Given the description of an element on the screen output the (x, y) to click on. 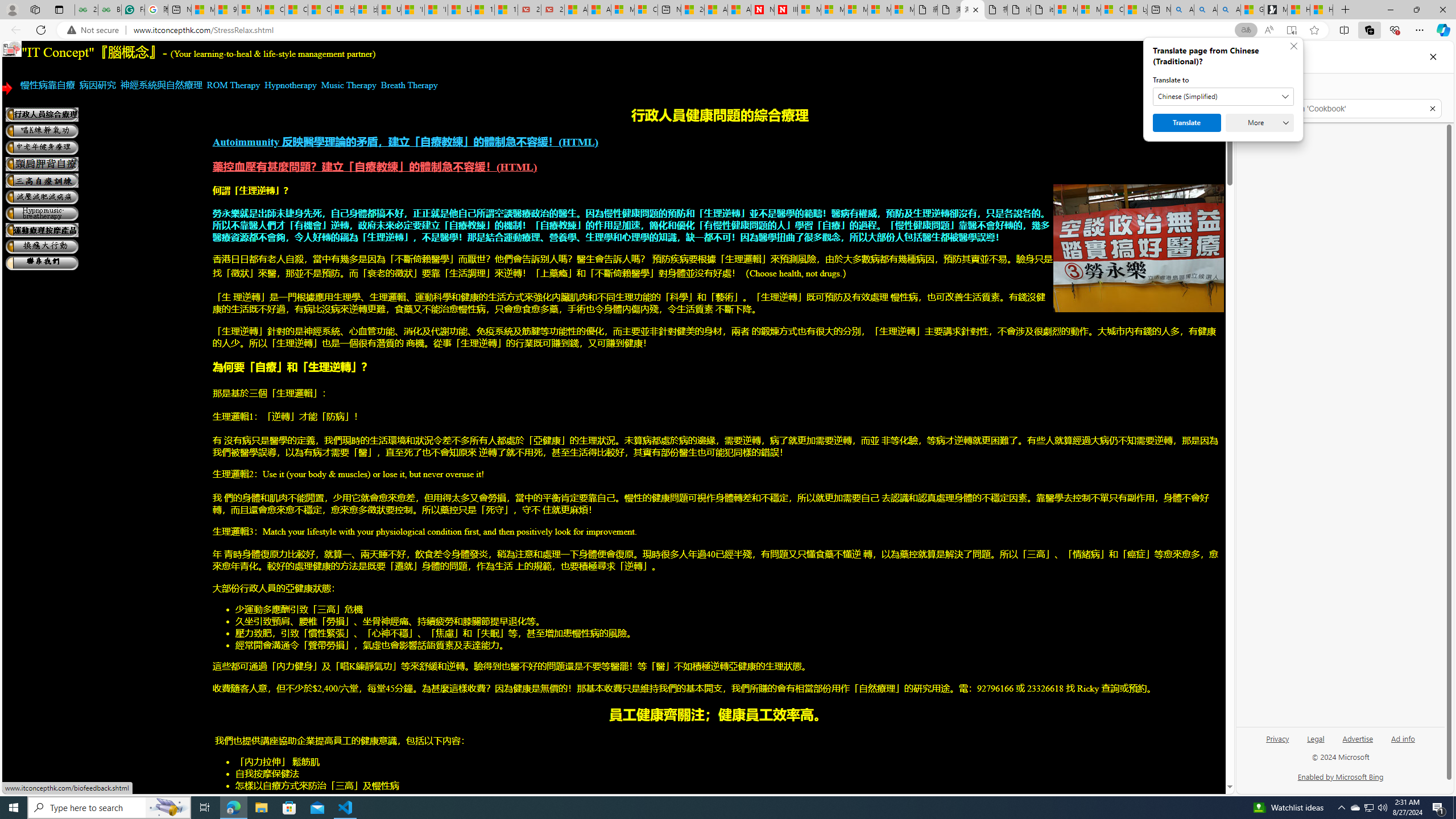
More (1259, 122)
20 Ways to Boost Your Protein Intake at Every Meal (692, 9)
Exit search (1432, 108)
Search in 'Cookbook' (1345, 108)
